Given the description of an element on the screen output the (x, y) to click on. 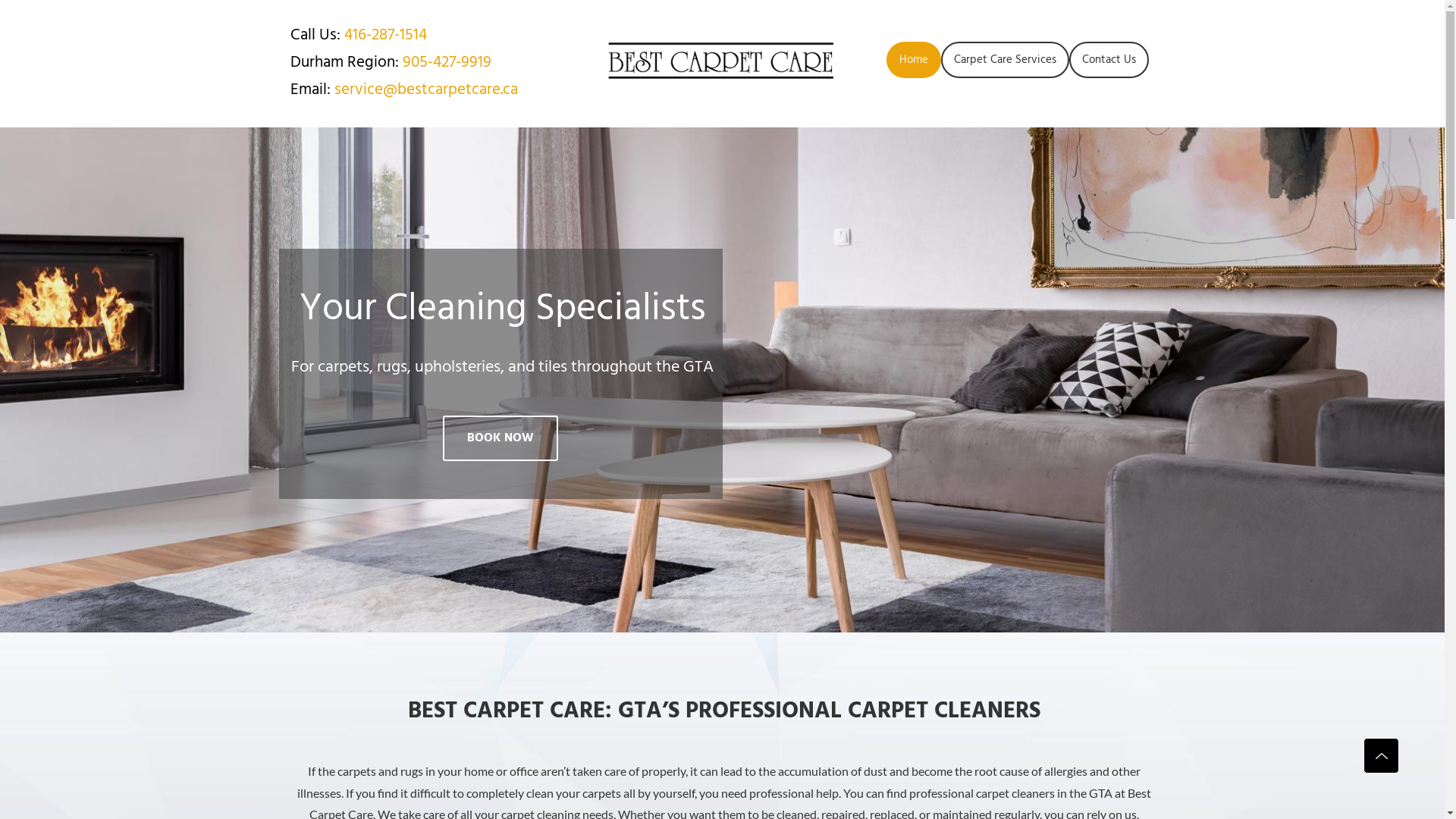
Home Element type: text (912, 59)
service@bestcarpetcare.ca Element type: text (425, 89)
416-287-1514 Element type: text (385, 34)
BOOK NOW Element type: text (500, 438)
Contact Us Element type: text (1108, 59)
905-427-9919 Element type: text (445, 62)
Carpet Care Services Element type: text (1004, 59)
